Given the description of an element on the screen output the (x, y) to click on. 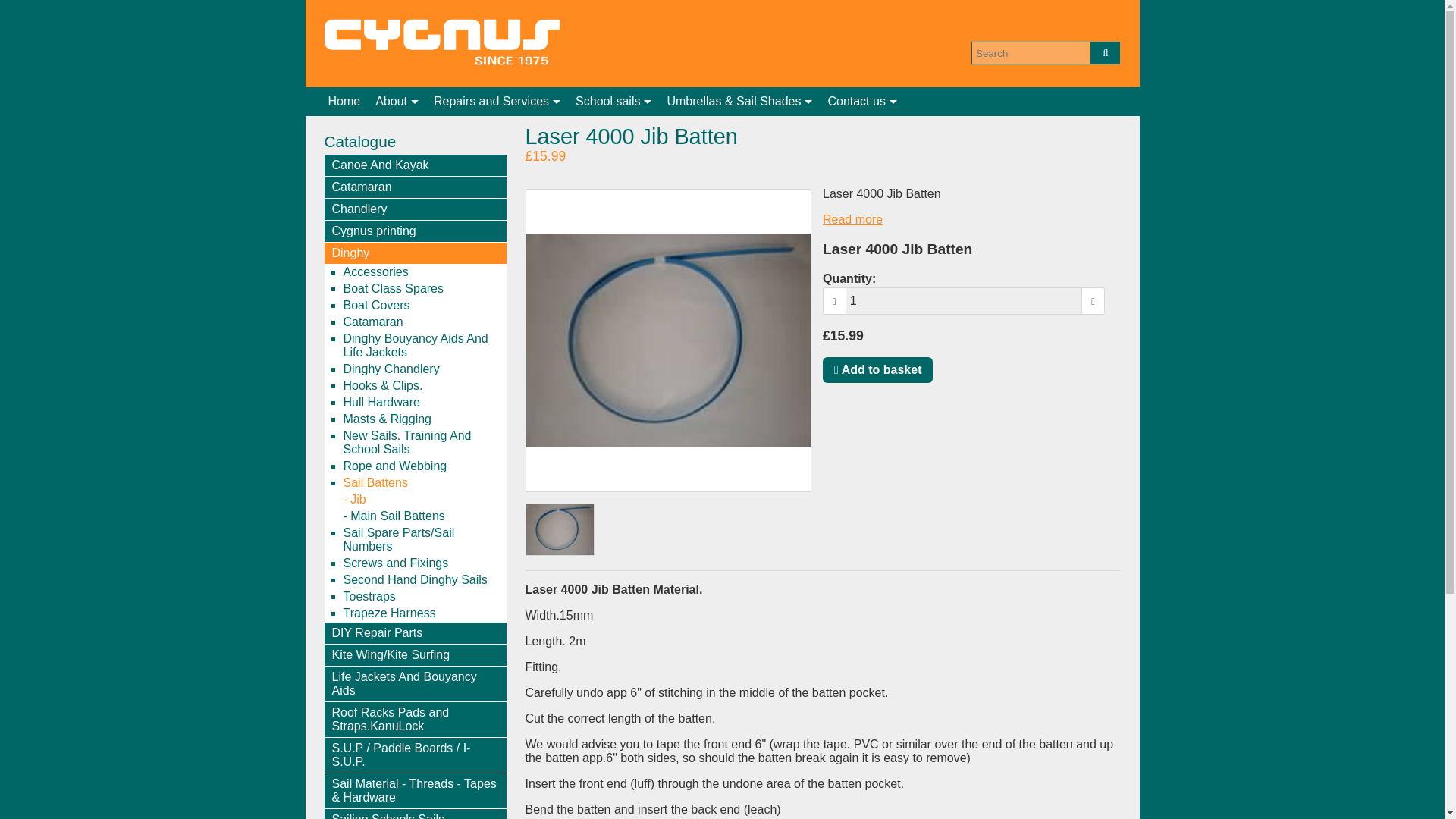
Dinghy (415, 252)
Catamaran (415, 187)
Accessories (423, 271)
New Sails. Training And School Sails (423, 442)
Boat Covers (423, 305)
Home (344, 101)
1 (964, 300)
Chandlery (415, 209)
Canoe And Kayak (415, 165)
Rope and Webbing (423, 466)
